Given the description of an element on the screen output the (x, y) to click on. 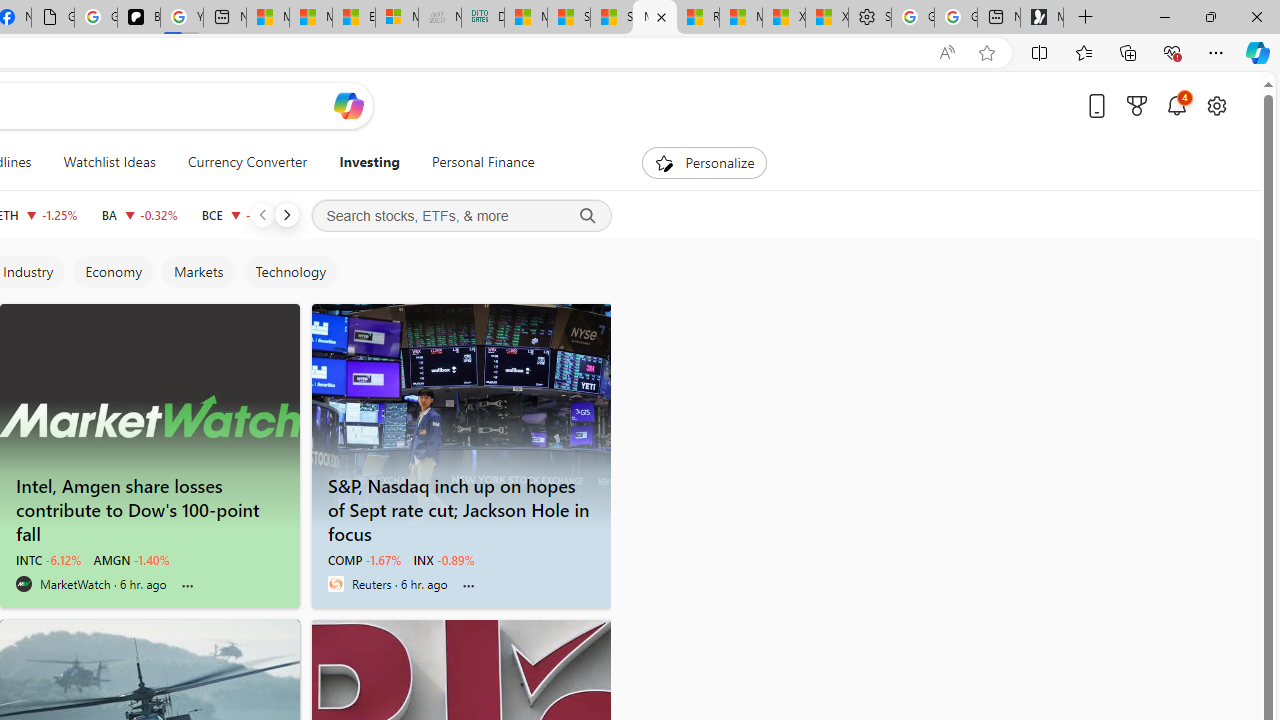
Search stocks, ETFs, & more (461, 215)
Next (286, 214)
Markets (198, 272)
COMP -1.67% (363, 560)
Entertainment - MSN (353, 17)
